Given the description of an element on the screen output the (x, y) to click on. 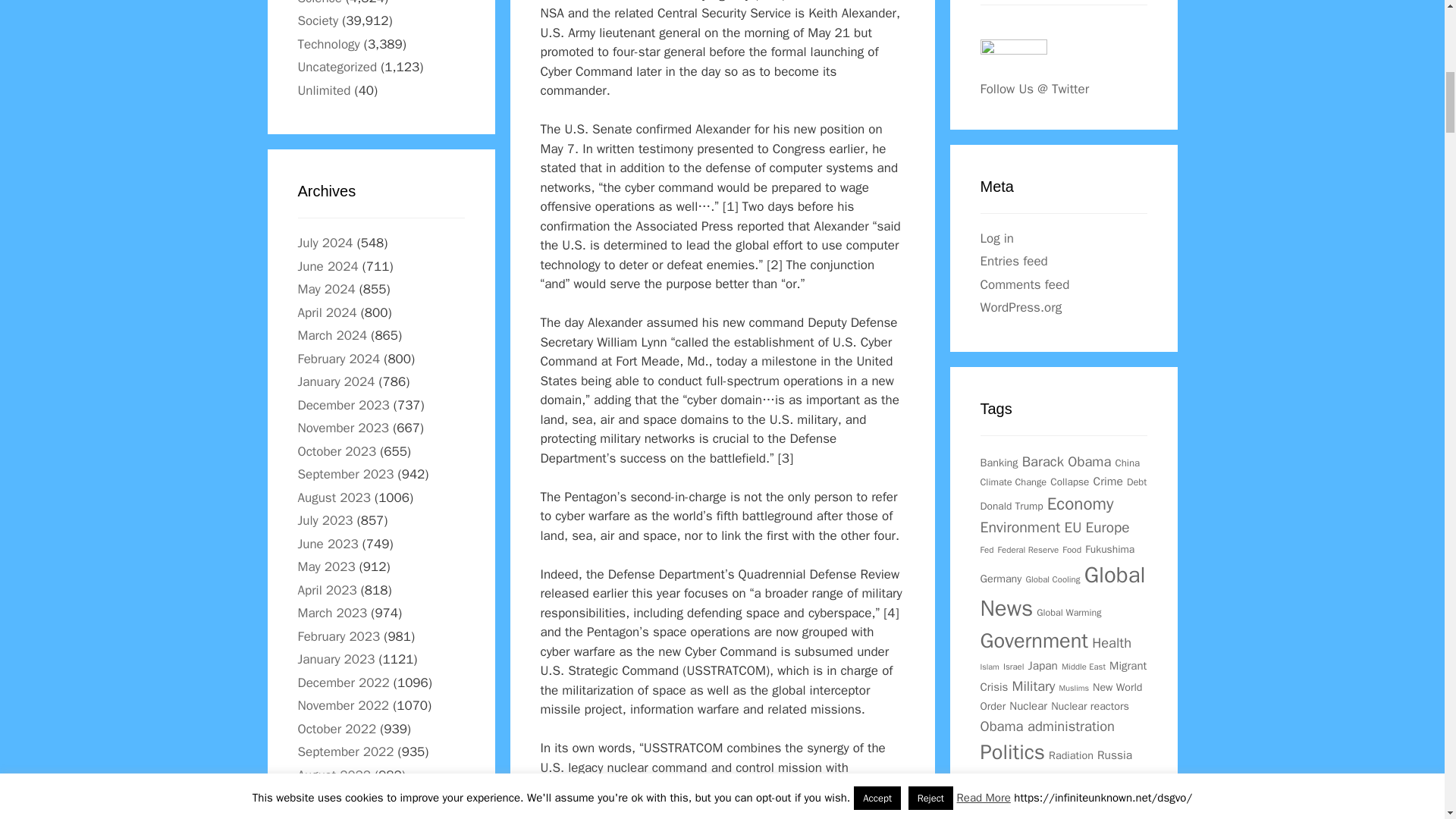
Scroll back to top (1406, 720)
